Given the description of an element on the screen output the (x, y) to click on. 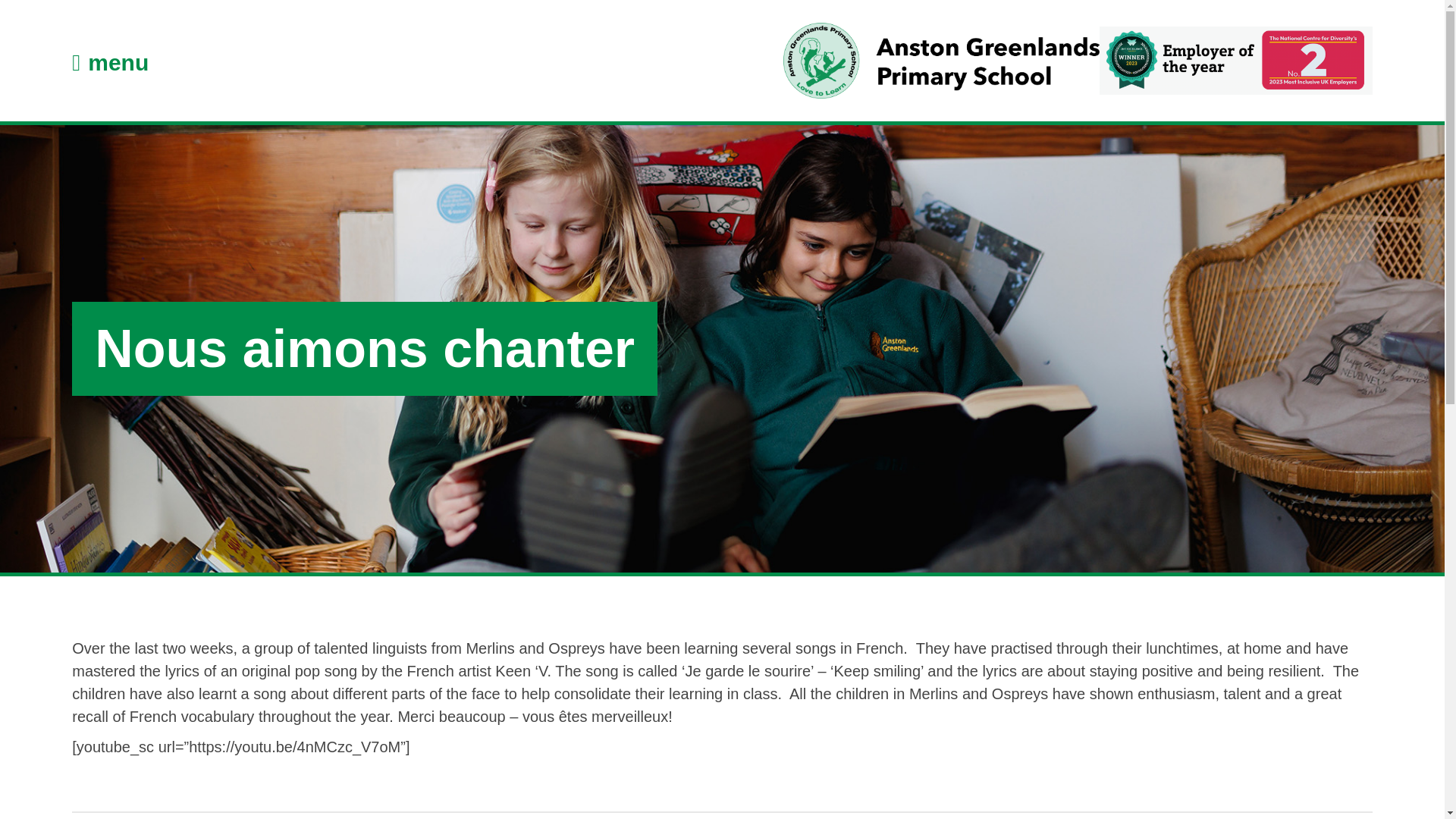
menu (109, 62)
